Given the description of an element on the screen output the (x, y) to click on. 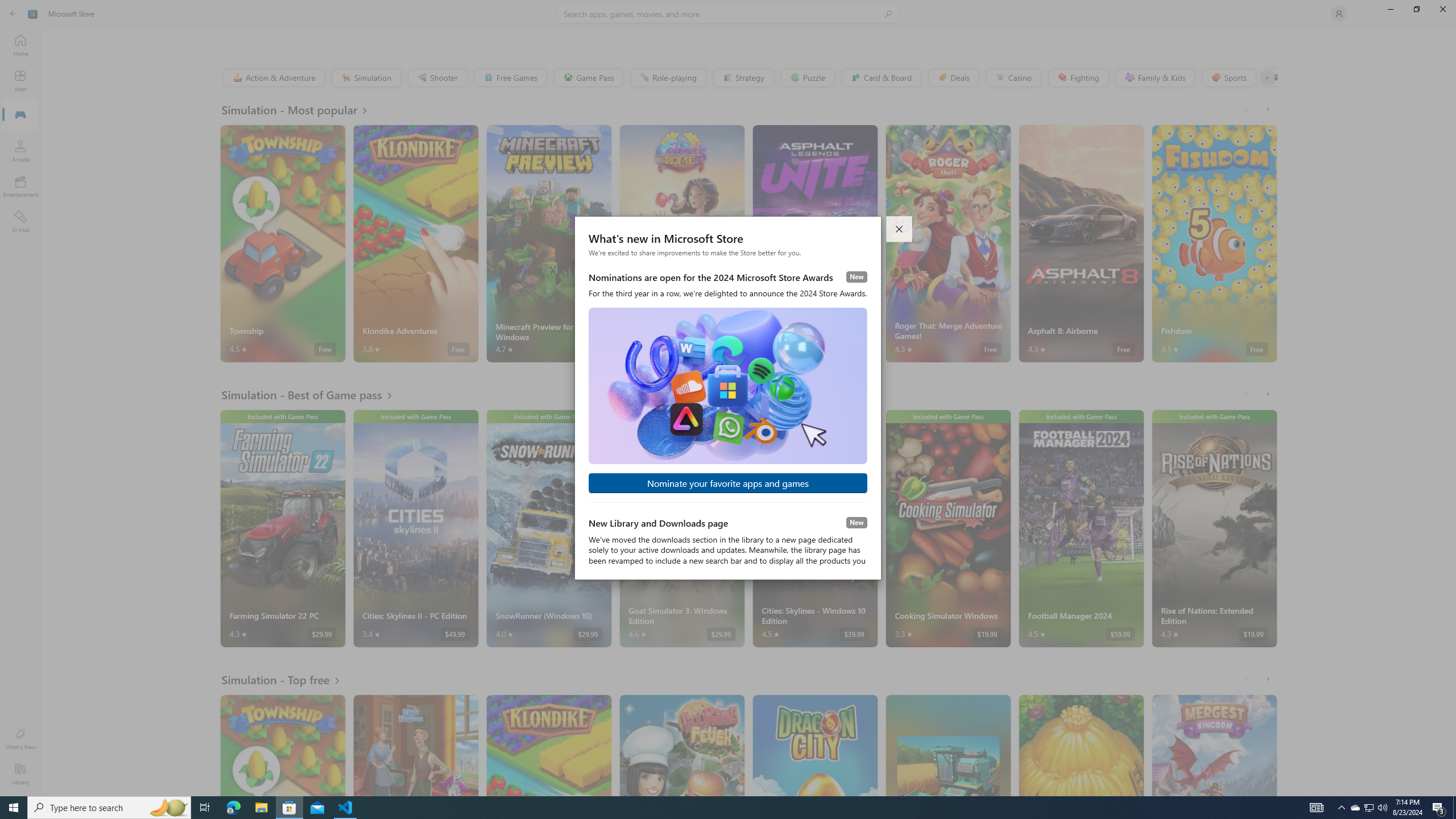
AutomationID: NavigationControl (728, 398)
Strategy (742, 77)
See all  Simulation - Top free (287, 679)
Fishdom. Average rating of 4.1 out of five stars. Free   (1213, 243)
Puzzle (807, 77)
Platformer (1269, 77)
Free Games (509, 77)
Search (727, 13)
Township. Average rating of 4.5 out of five stars. Free   (282, 745)
Dragon City. Average rating of 4.5 out of five stars. Free   (814, 745)
See all  Simulation - Best of Game pass (313, 394)
